Given the description of an element on the screen output the (x, y) to click on. 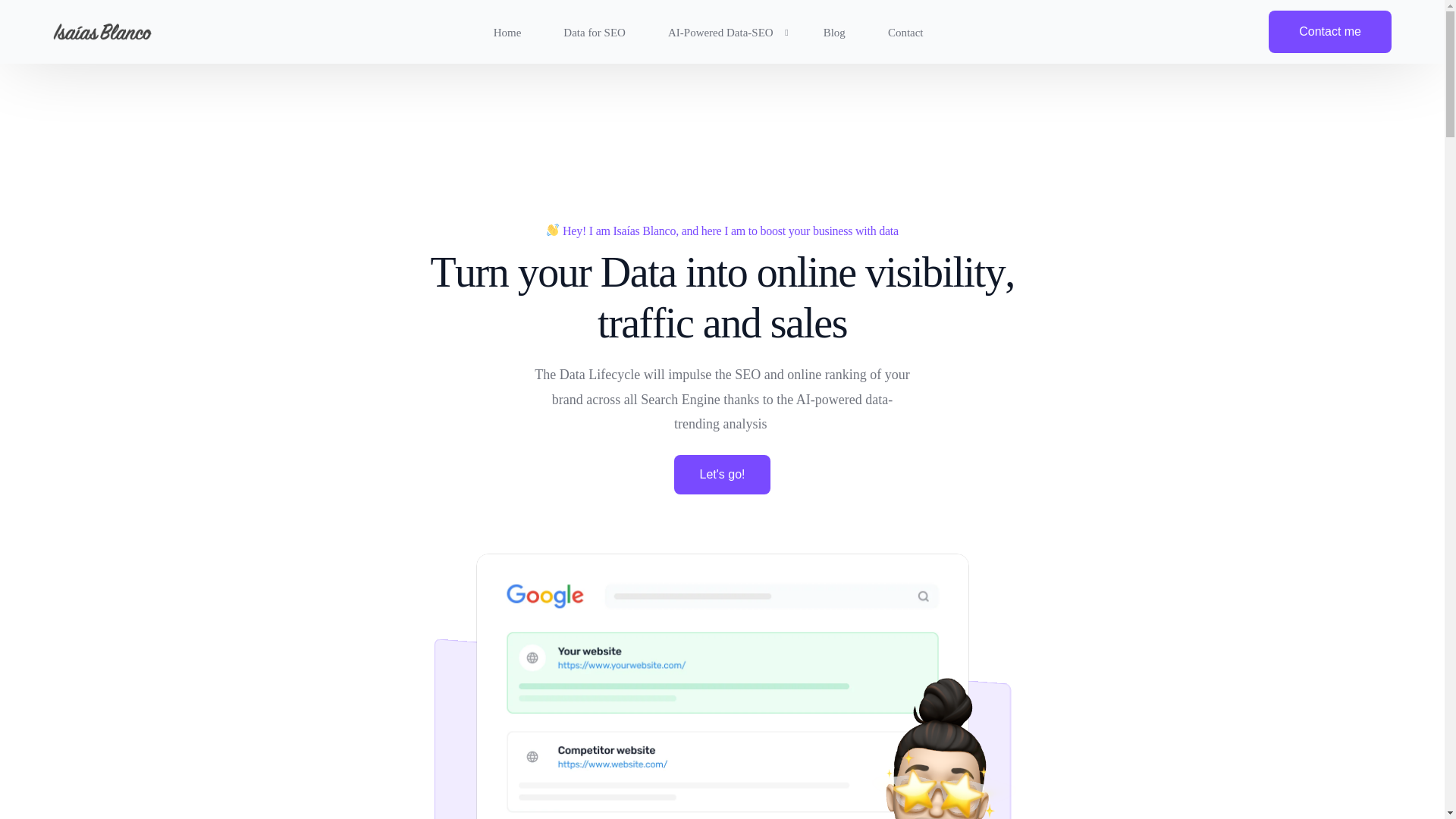
Data for SEO (593, 31)
Contact (905, 31)
AI-Powered Data-SEO (724, 31)
Let's go! (721, 474)
Contact me (1329, 31)
Blog (834, 31)
Home (507, 31)
